Given the description of an element on the screen output the (x, y) to click on. 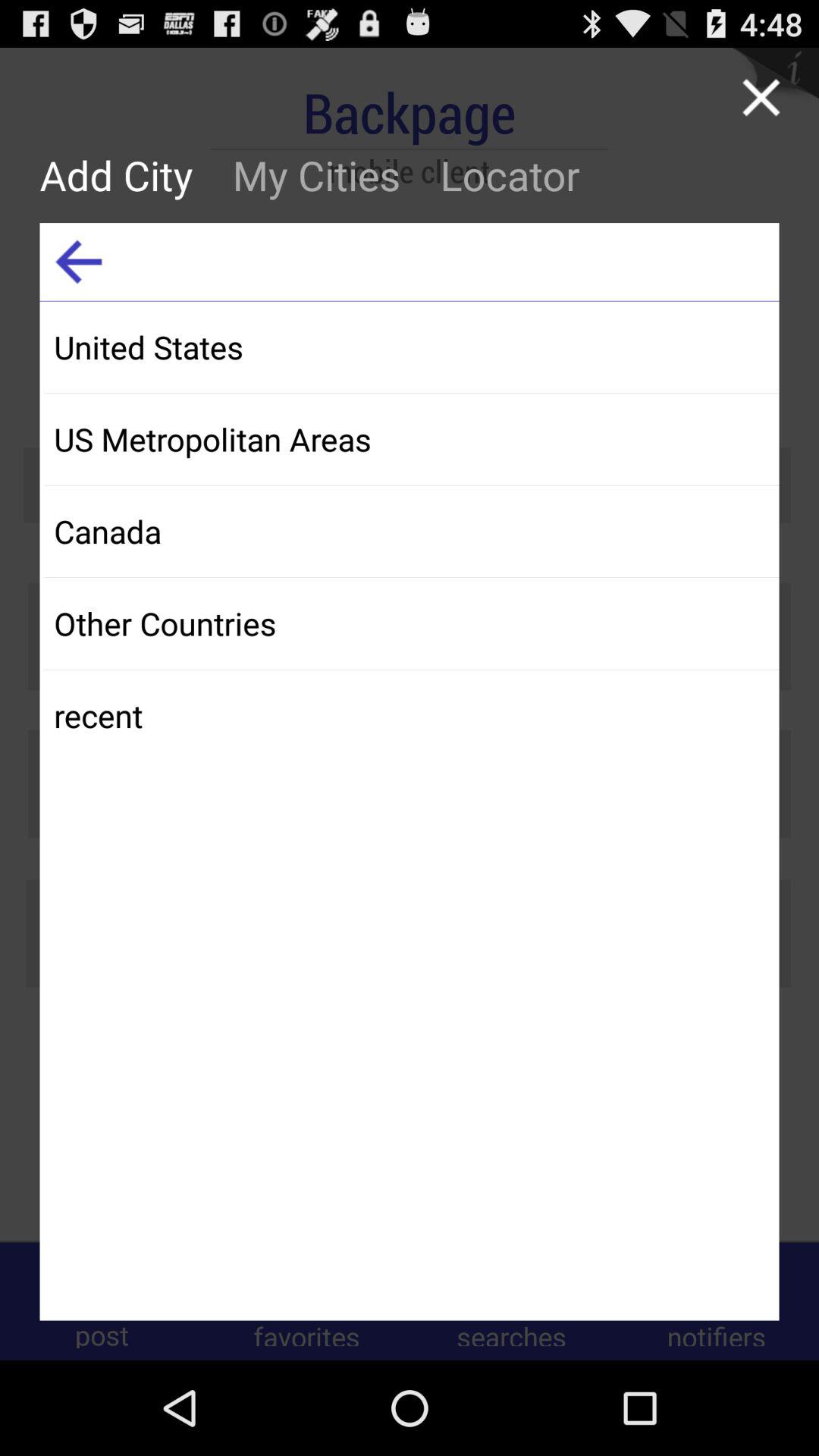
press the app below the us metropolitan areas icon (411, 530)
